Given the description of an element on the screen output the (x, y) to click on. 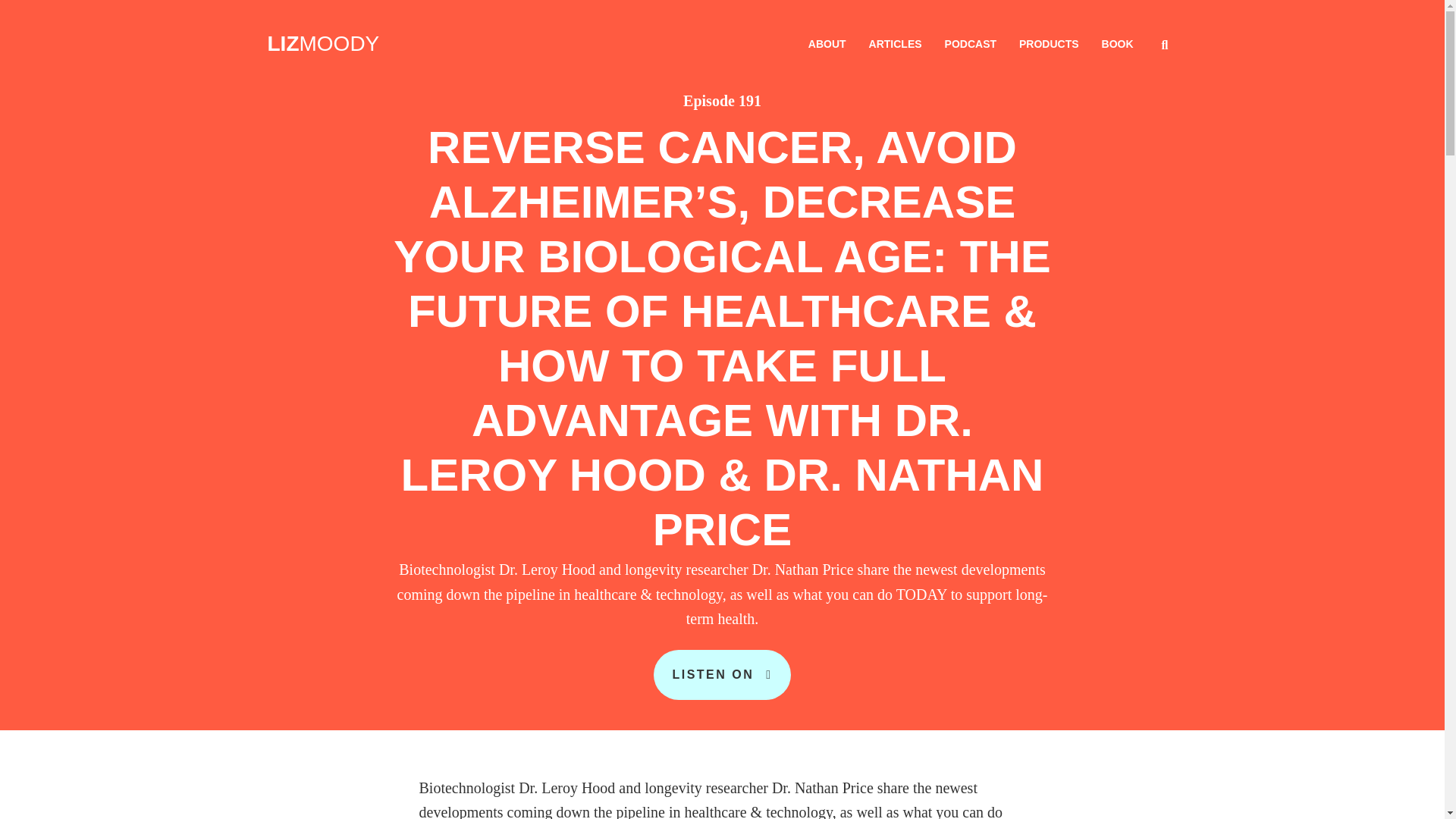
PRODUCTS (1048, 43)
BOOK (1117, 43)
LIZ (282, 43)
LISTEN ON (721, 674)
MOODY (338, 43)
ARTICLES (895, 43)
ABOUT (826, 43)
PODCAST (970, 43)
